Given the description of an element on the screen output the (x, y) to click on. 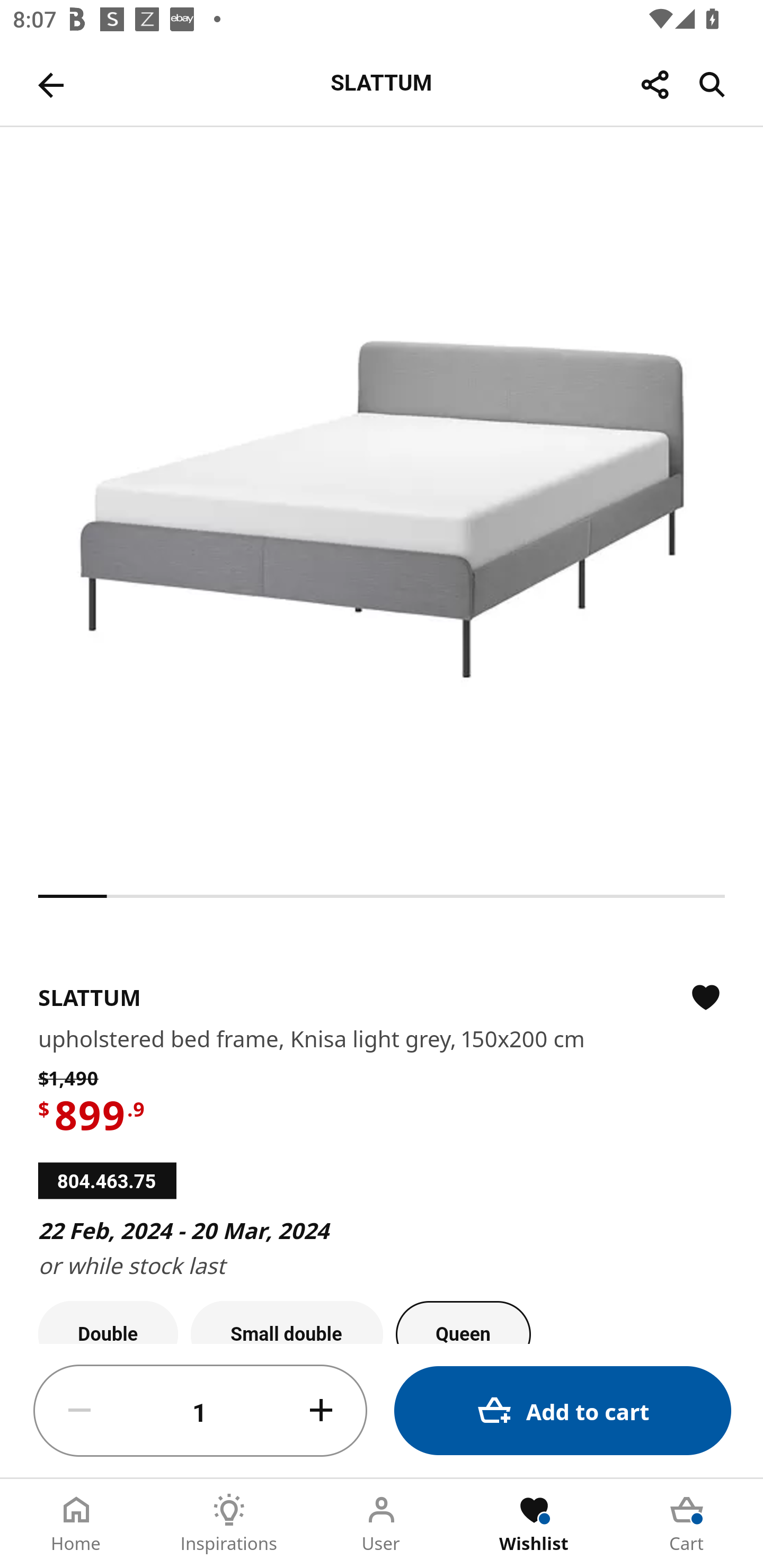
Double (107, 1322)
Small double (286, 1322)
Queen (463, 1322)
Add to cart (562, 1410)
1 (200, 1411)
Home
Tab 1 of 5 (76, 1522)
Inspirations
Tab 2 of 5 (228, 1522)
User
Tab 3 of 5 (381, 1522)
Wishlist
Tab 4 of 5 (533, 1522)
Cart
Tab 5 of 5 (686, 1522)
